Given the description of an element on the screen output the (x, y) to click on. 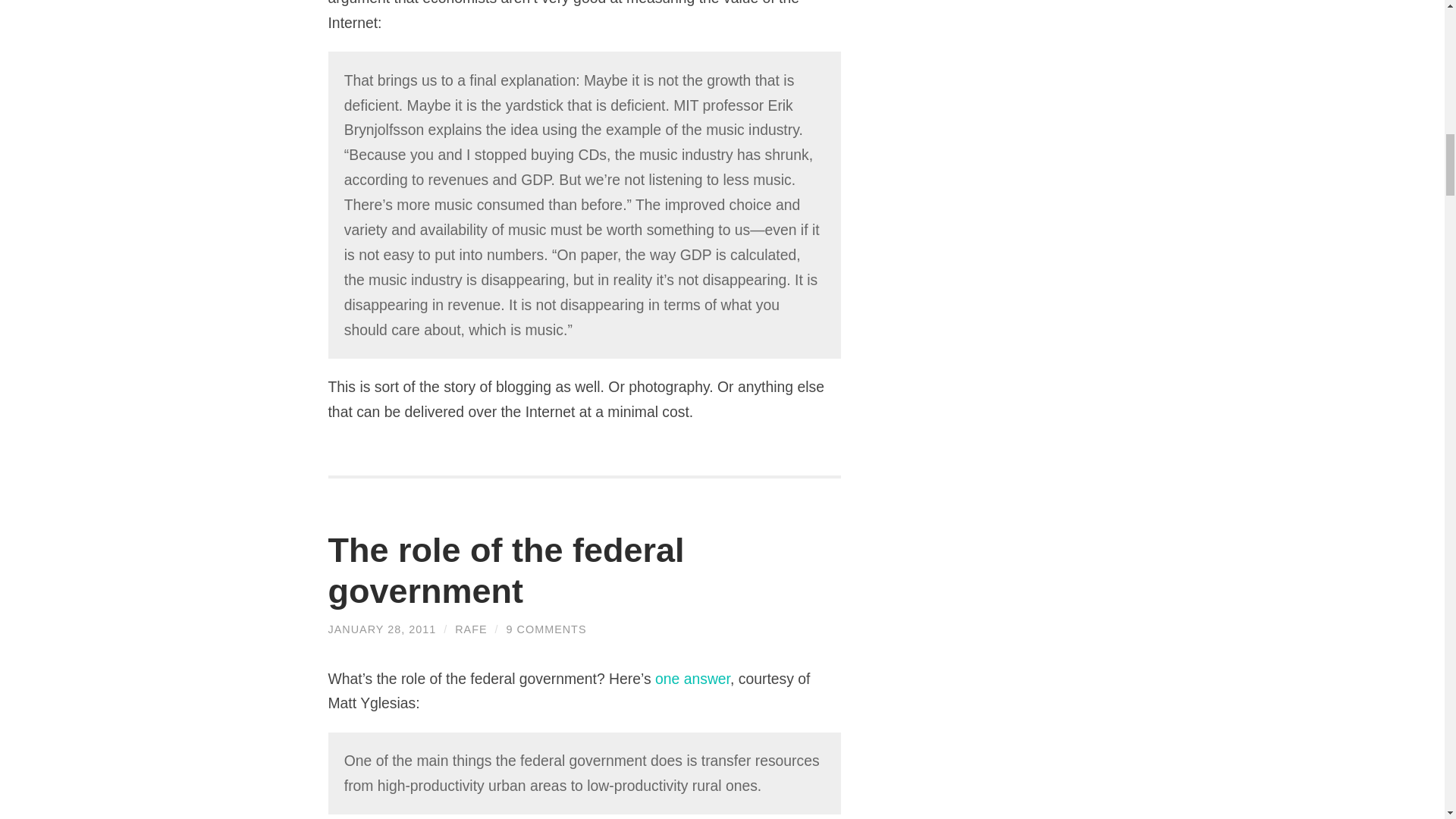
The role of the federal government (381, 629)
9 COMMENTS (546, 629)
JANUARY 28, 2011 (381, 629)
Posts by Rafe (470, 629)
The role of the federal government (505, 570)
RAFE (470, 629)
one answer (692, 678)
The role of the federal government (505, 570)
